Given the description of an element on the screen output the (x, y) to click on. 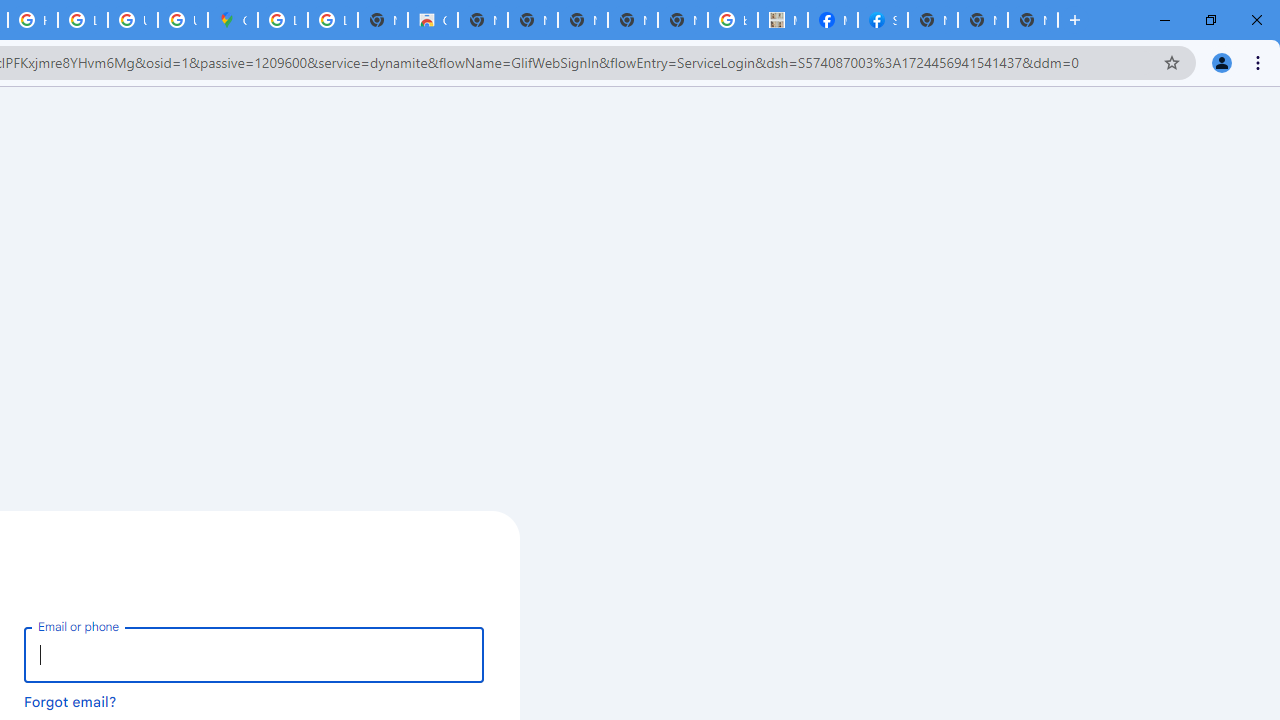
Miley Cyrus | Facebook (832, 20)
MILEY CYRUS. (782, 20)
Email or phone (253, 654)
Forgot email? (70, 701)
Chrome Web Store (433, 20)
